Given the description of an element on the screen output the (x, y) to click on. 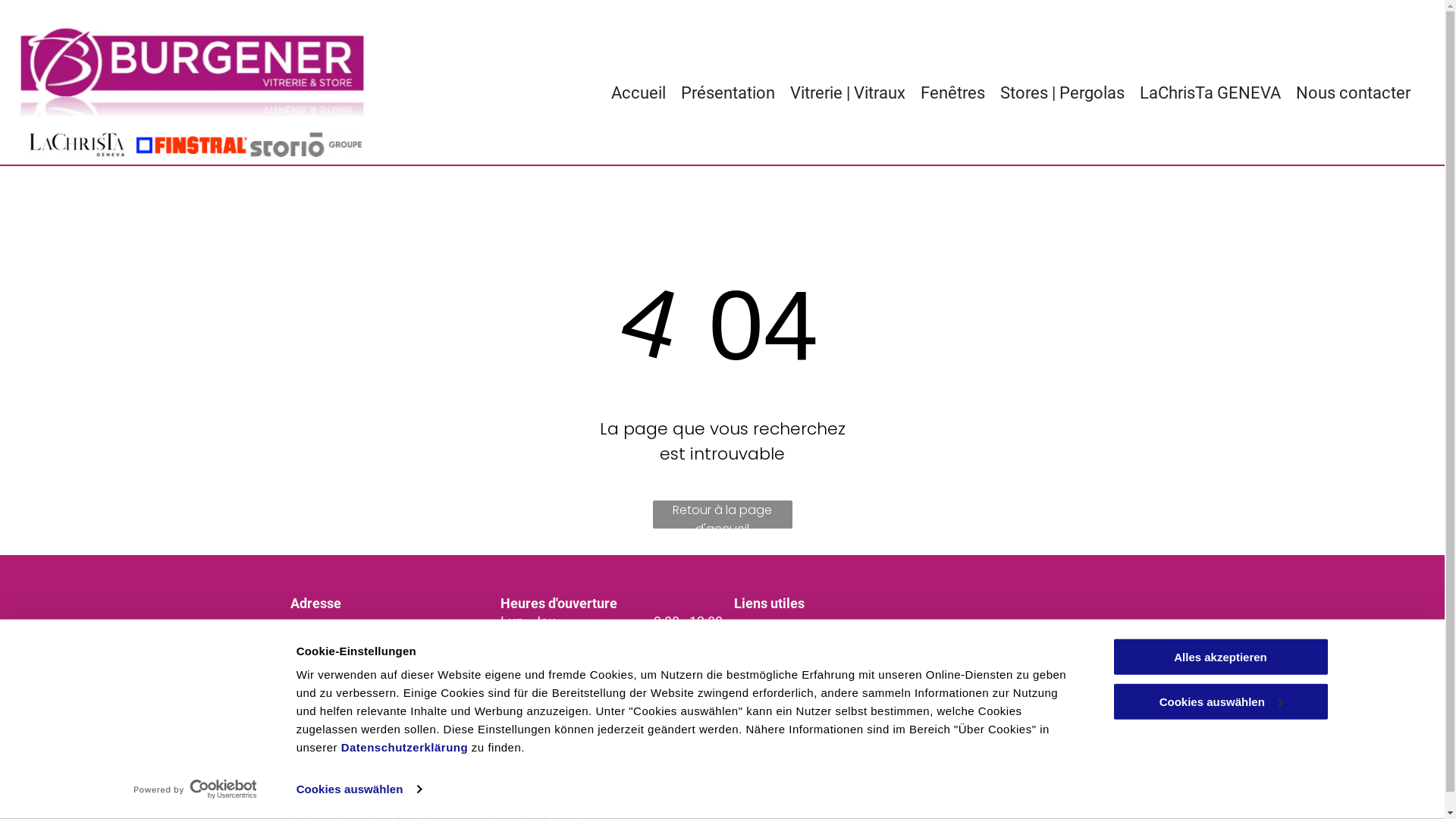
Glatz Element type: text (978, 628)
Brustor-Pergolas Element type: text (1016, 669)
Somfy Element type: text (764, 693)
Dorma Element type: text (765, 649)
Wowo Element type: text (980, 689)
Dorma Gral Element type: text (779, 627)
Griesser Suisse Element type: text (792, 715)
Corradi Element type: text (767, 736)
Alles akzeptieren Element type: text (1219, 656)
Nous contacter Element type: text (1352, 92)
Stores | Pergolas Element type: text (1062, 92)
Stobag Element type: text (983, 648)
Accueil Element type: text (638, 92)
info@burgenersa.ch Element type: text (351, 712)
022 343 61 80 Element type: text (331, 691)
LaChrisTa GENEVA Element type: text (1209, 92)
Vitrerie | Vitraux Element type: text (847, 92)
